Given the description of an element on the screen output the (x, y) to click on. 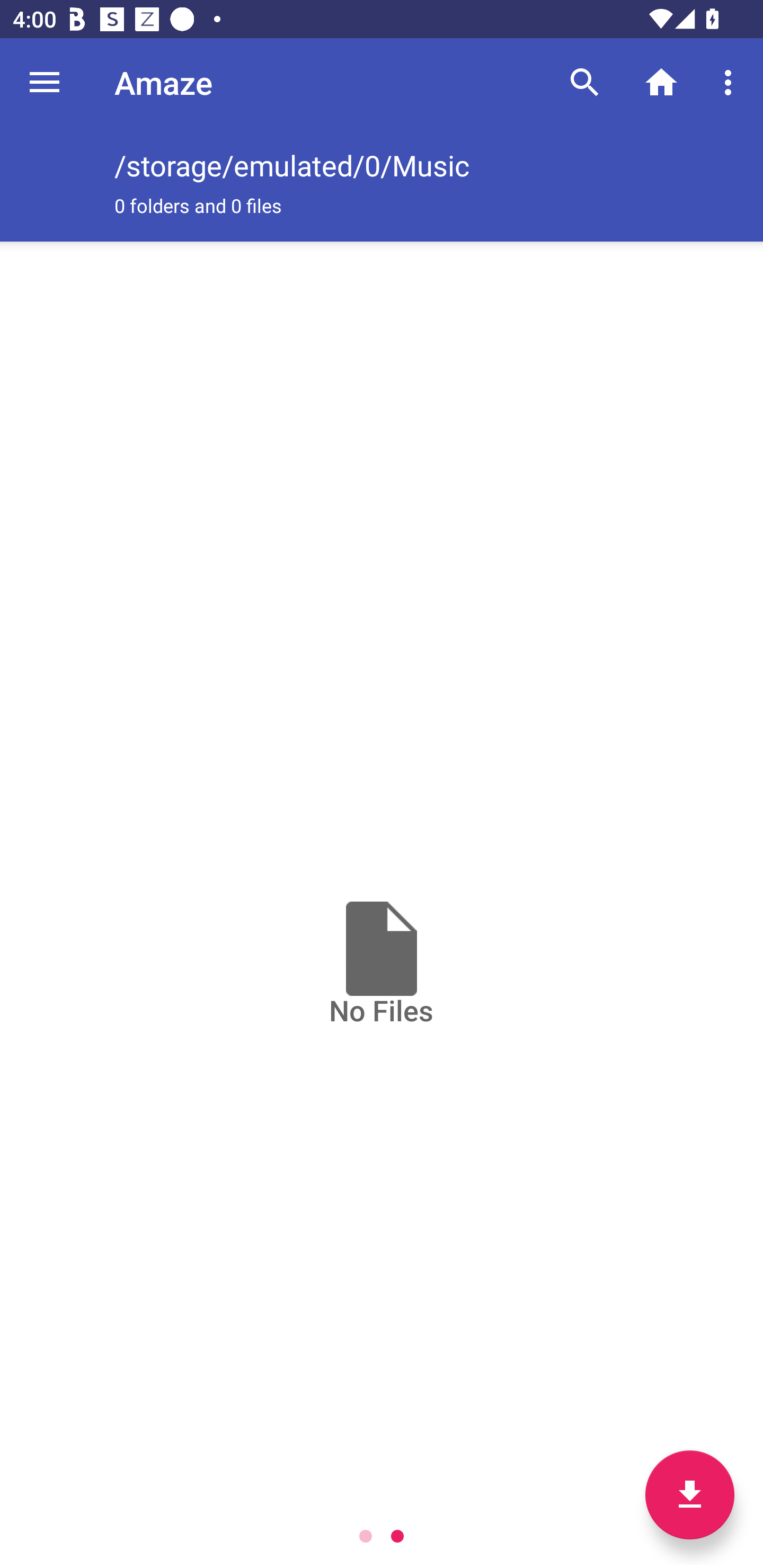
Navigate up (44, 82)
Search (585, 81)
Home (661, 81)
More options (731, 81)
